Given the description of an element on the screen output the (x, y) to click on. 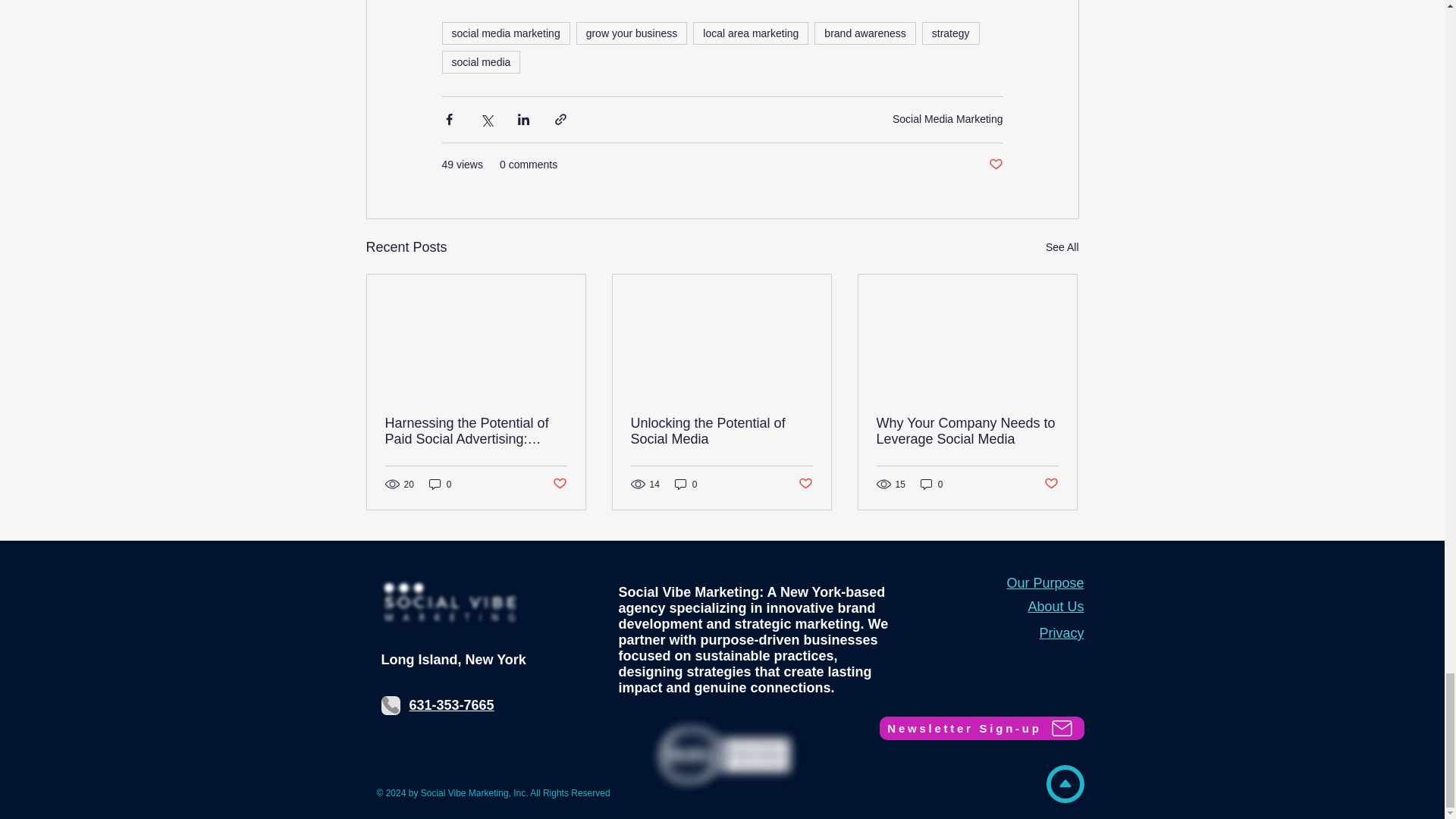
grow your business (631, 33)
Post not marked as liked (995, 164)
local area marketing (750, 33)
social media marketing (505, 33)
Social Media Marketing (947, 119)
brand awareness (864, 33)
strategy (950, 33)
social media (480, 61)
